Given the description of an element on the screen output the (x, y) to click on. 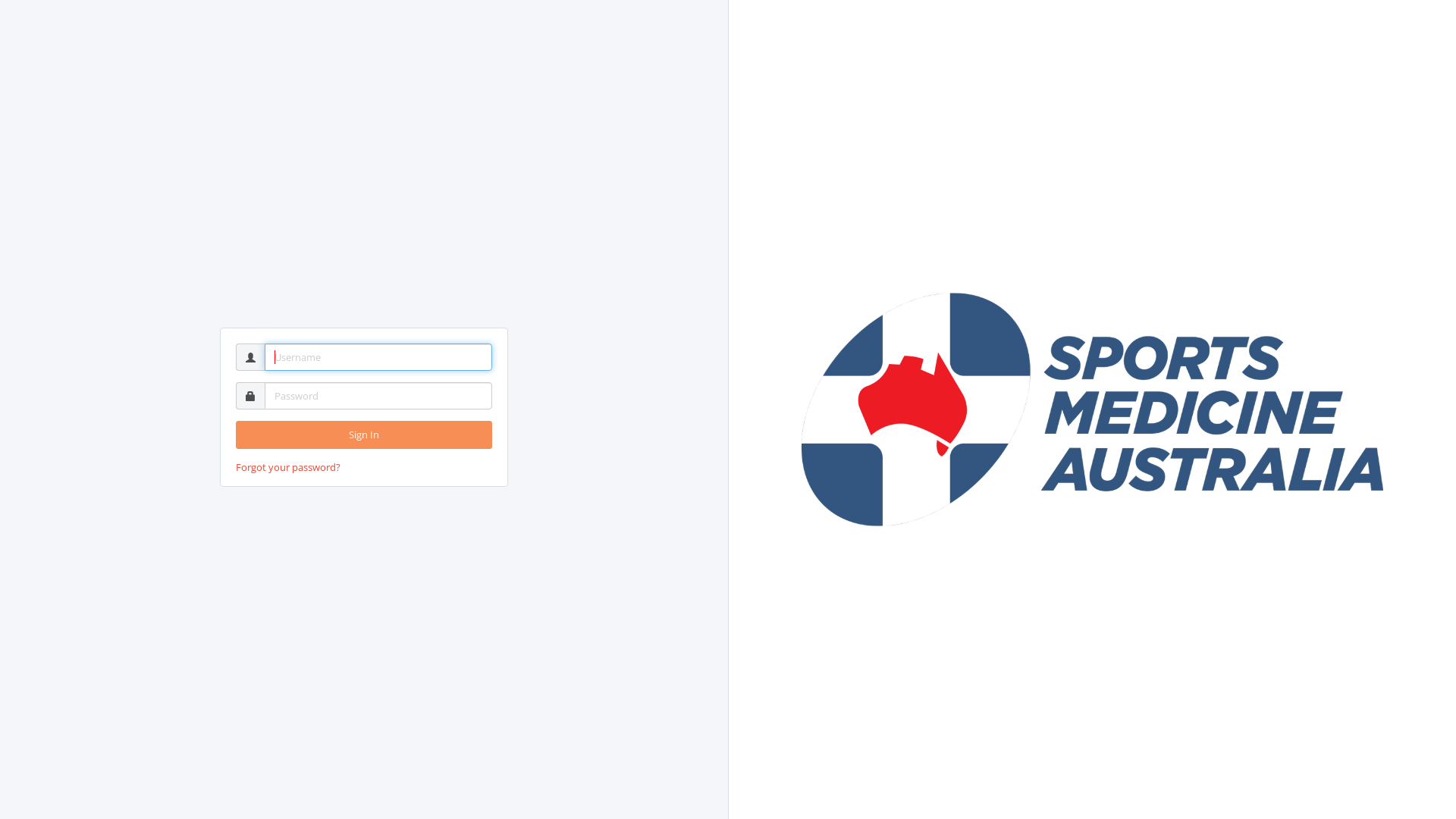
Forgot your password? Element type: text (287, 466)
Sign In Element type: text (363, 434)
